Given the description of an element on the screen output the (x, y) to click on. 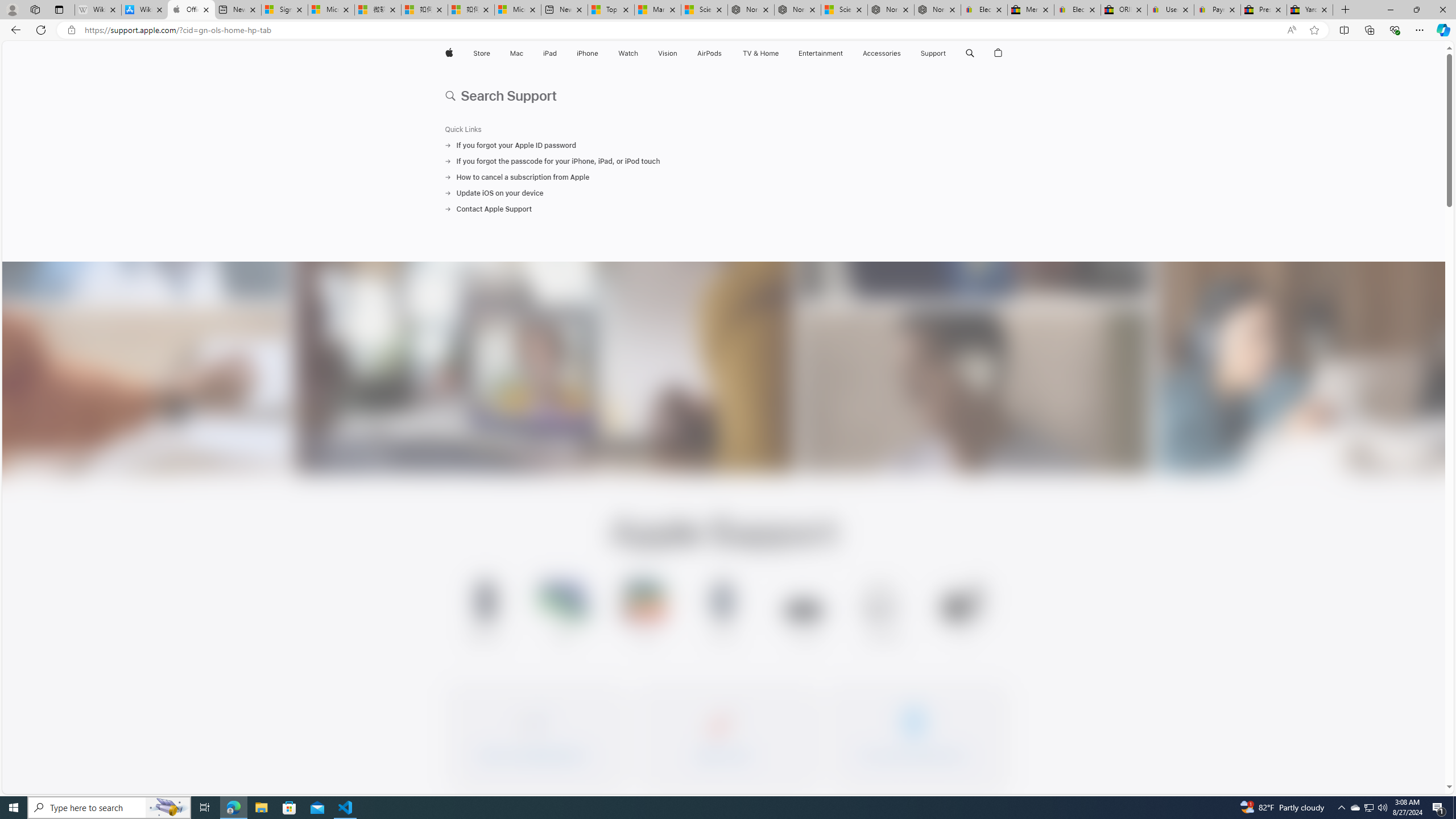
AirPods menu (723, 53)
How to cancel a subscription from Apple (723, 177)
Contact Apple Support (723, 209)
TV & Home (759, 53)
AirPods Support (882, 615)
iPhone (587, 53)
AirPods (709, 53)
Update iOS on your device (723, 192)
